Given the description of an element on the screen output the (x, y) to click on. 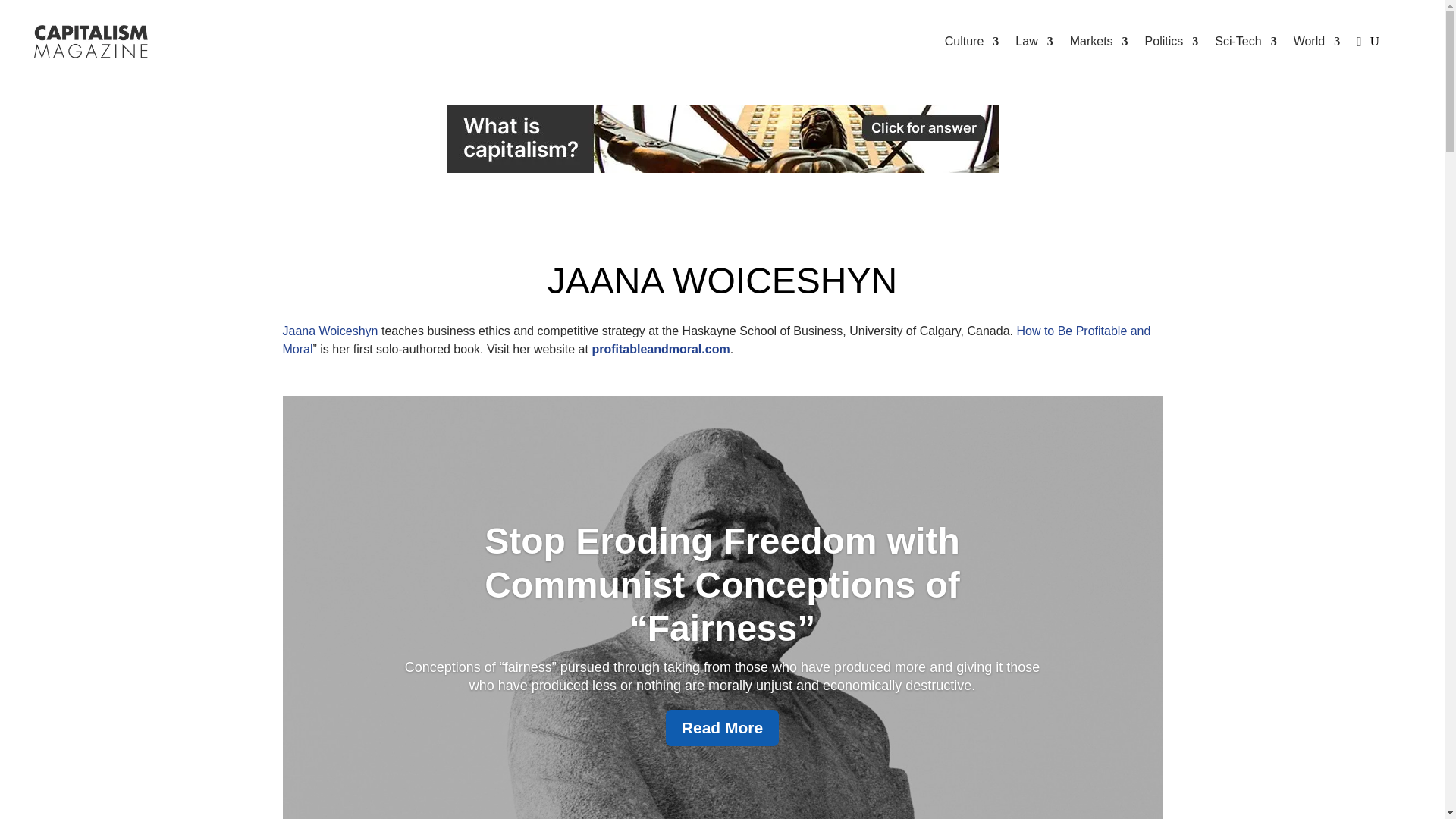
Culture (971, 41)
Markets (1099, 41)
Capitalism Tour (721, 138)
